Given the description of an element on the screen output the (x, y) to click on. 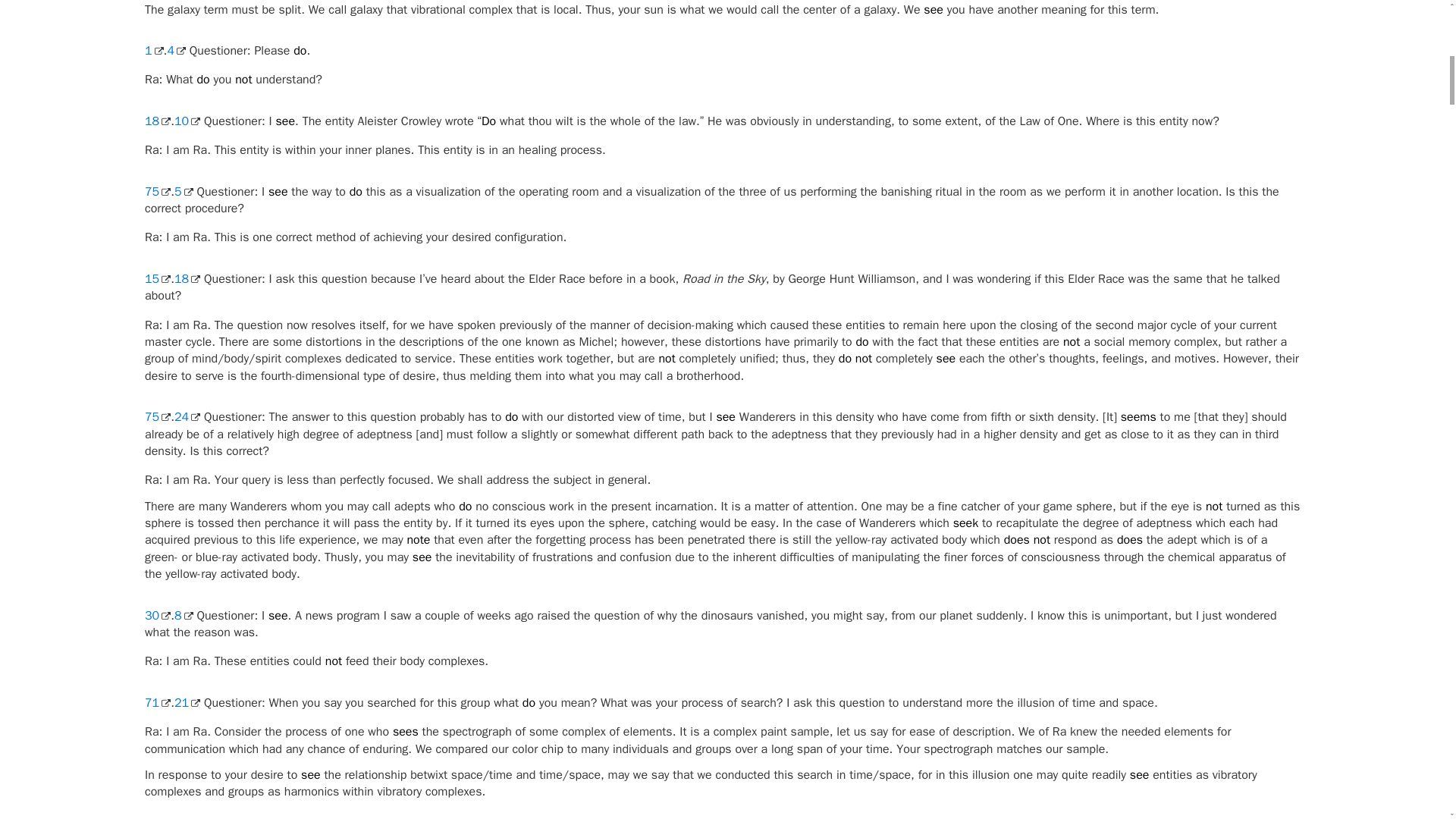
4 (176, 50)
10 (187, 120)
18 (157, 120)
1 (153, 50)
